Given the description of an element on the screen output the (x, y) to click on. 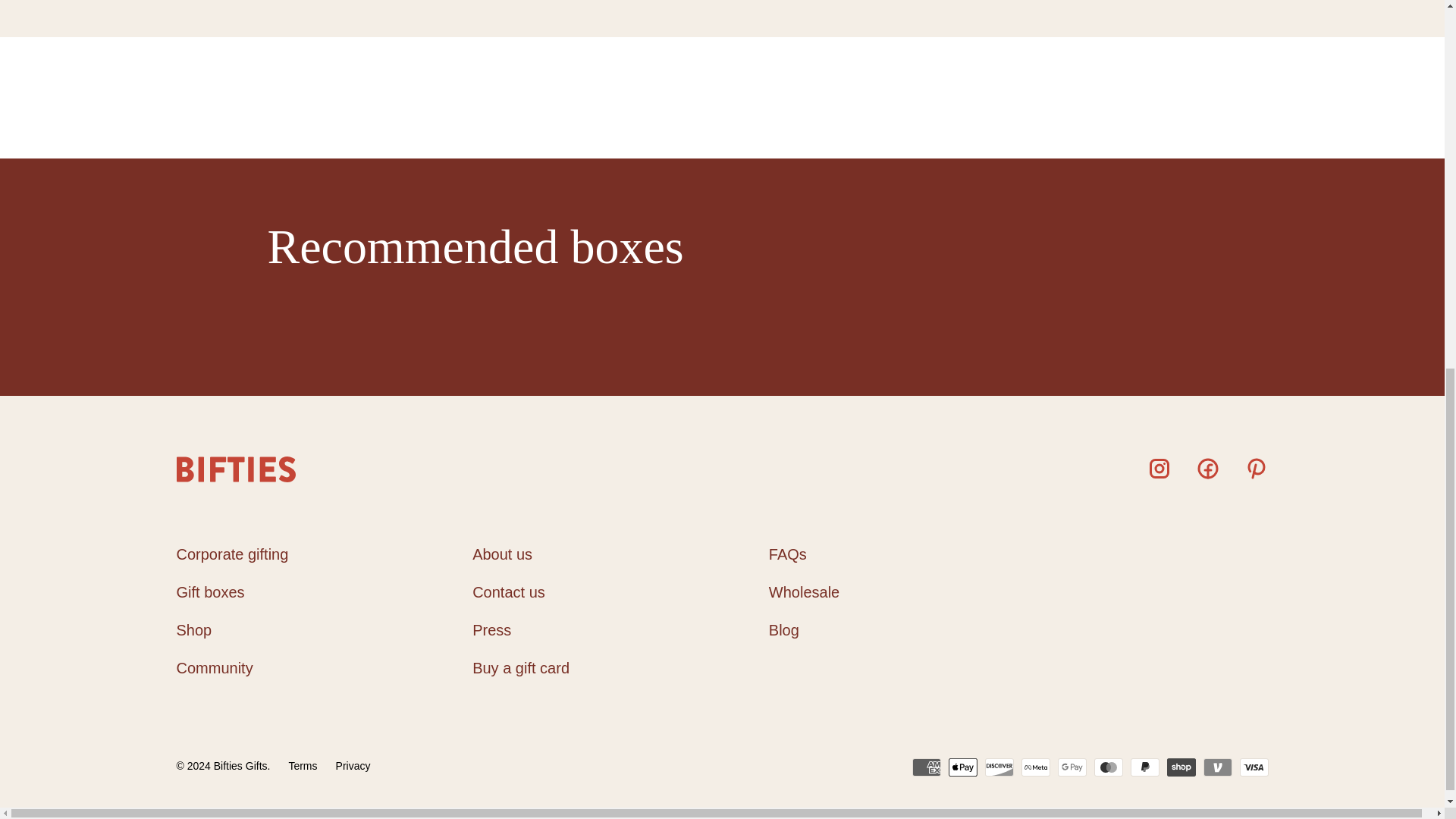
Add to cart (268, 159)
Blog (783, 629)
Wholesale (804, 591)
Press (491, 629)
Terms (302, 766)
Buy a gift card (520, 668)
Gift boxes (210, 591)
Community (213, 668)
About us (501, 554)
Corporate gifting (232, 554)
Shop (193, 629)
Privacy (353, 766)
Contact us (507, 591)
FAQs (787, 554)
